Given the description of an element on the screen output the (x, y) to click on. 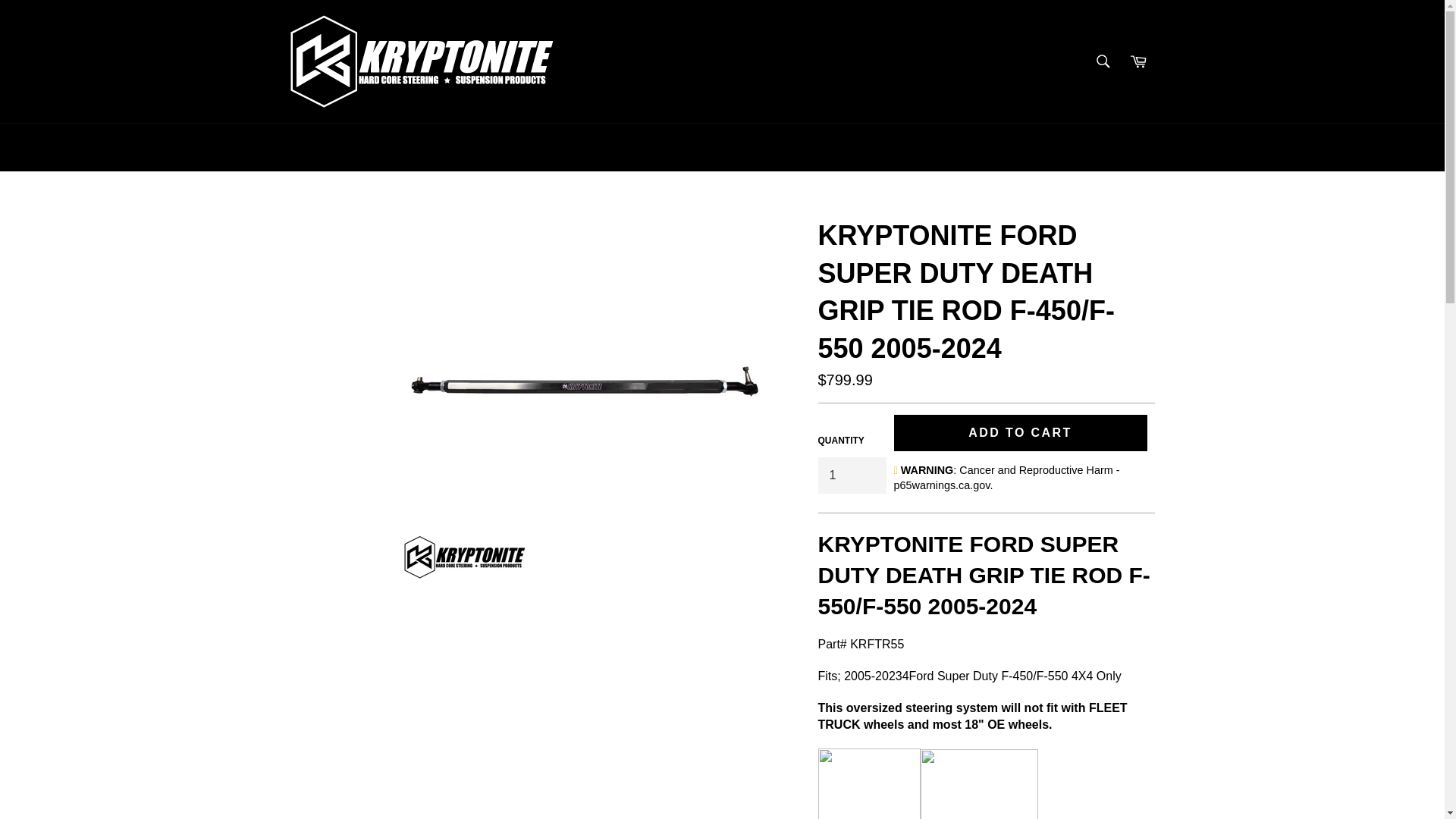
1 (850, 475)
Search (1103, 60)
Cart (1138, 60)
